Given the description of an element on the screen output the (x, y) to click on. 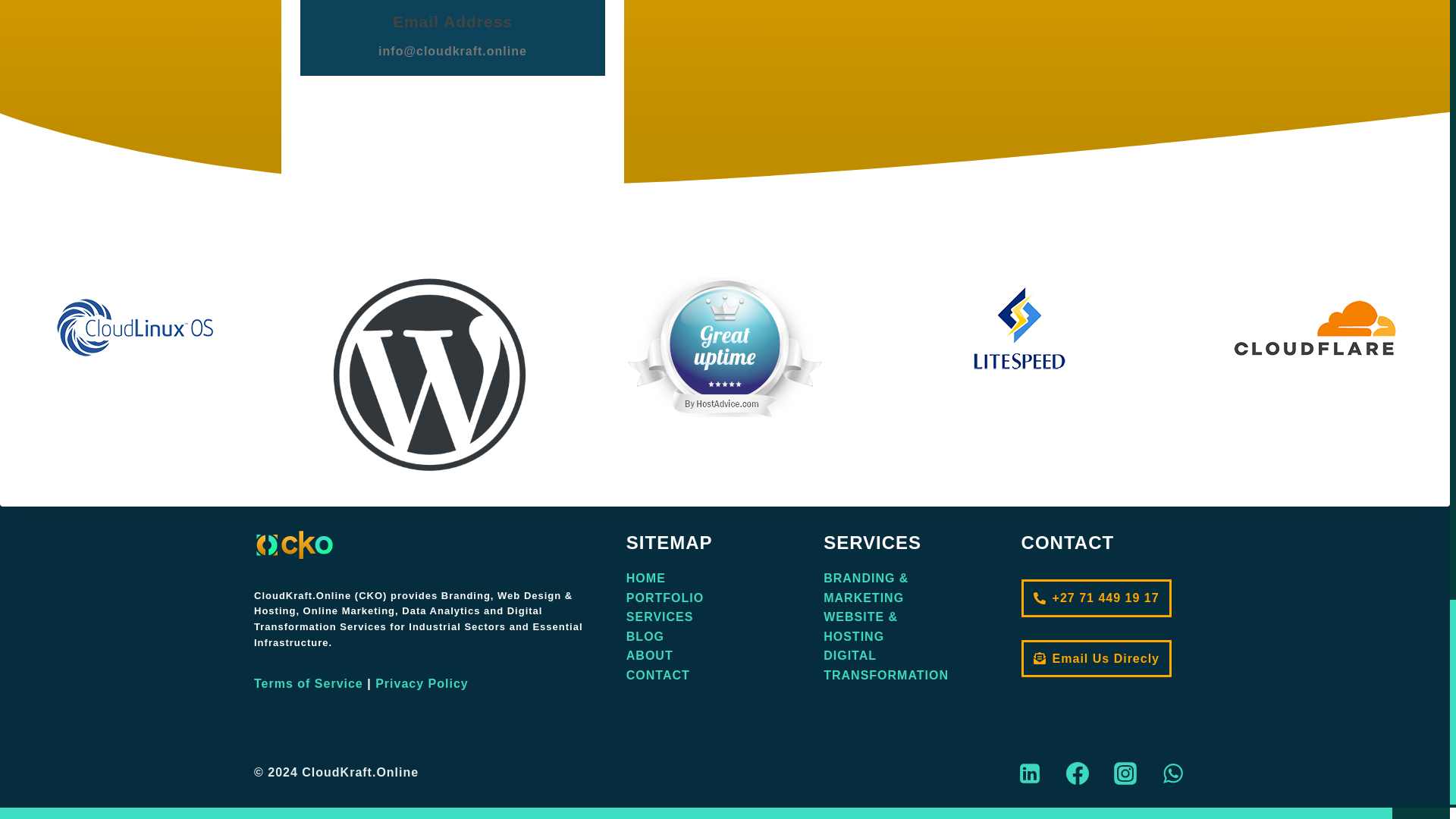
PORTFOLIO (664, 597)
Email for Quote (1097, 658)
Privacy Policy (421, 683)
SERVICES (660, 616)
CONTACT (658, 675)
Email Us Direcly (1097, 658)
HOME (645, 577)
Direct Call (1097, 598)
DIGITAL TRANSFORMATION (886, 665)
BLOG (644, 635)
Terms of Service (307, 683)
